Given the description of an element on the screen output the (x, y) to click on. 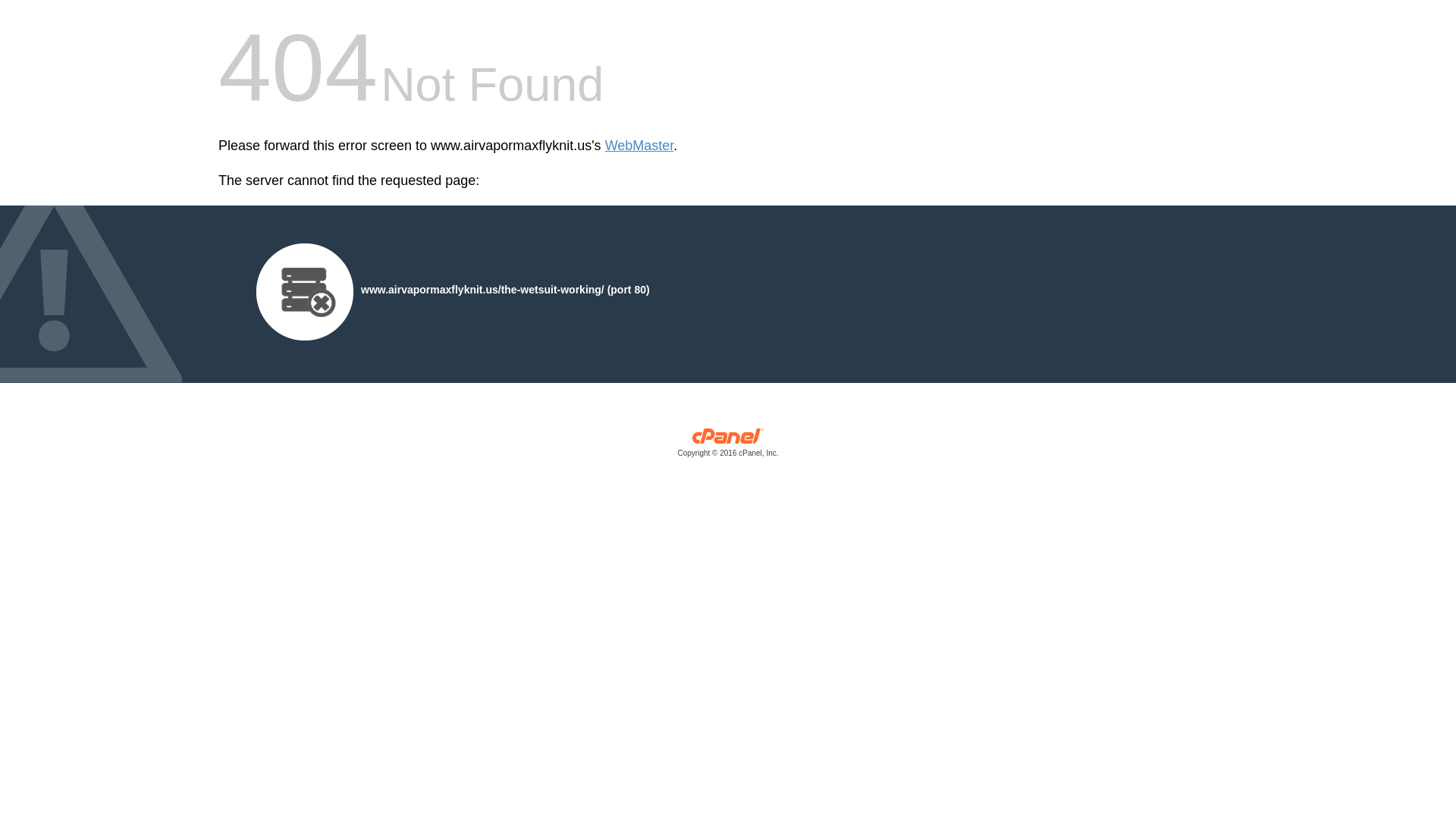
cPanel, Inc. (727, 446)
WebMaster (639, 145)
